Given the description of an element on the screen output the (x, y) to click on. 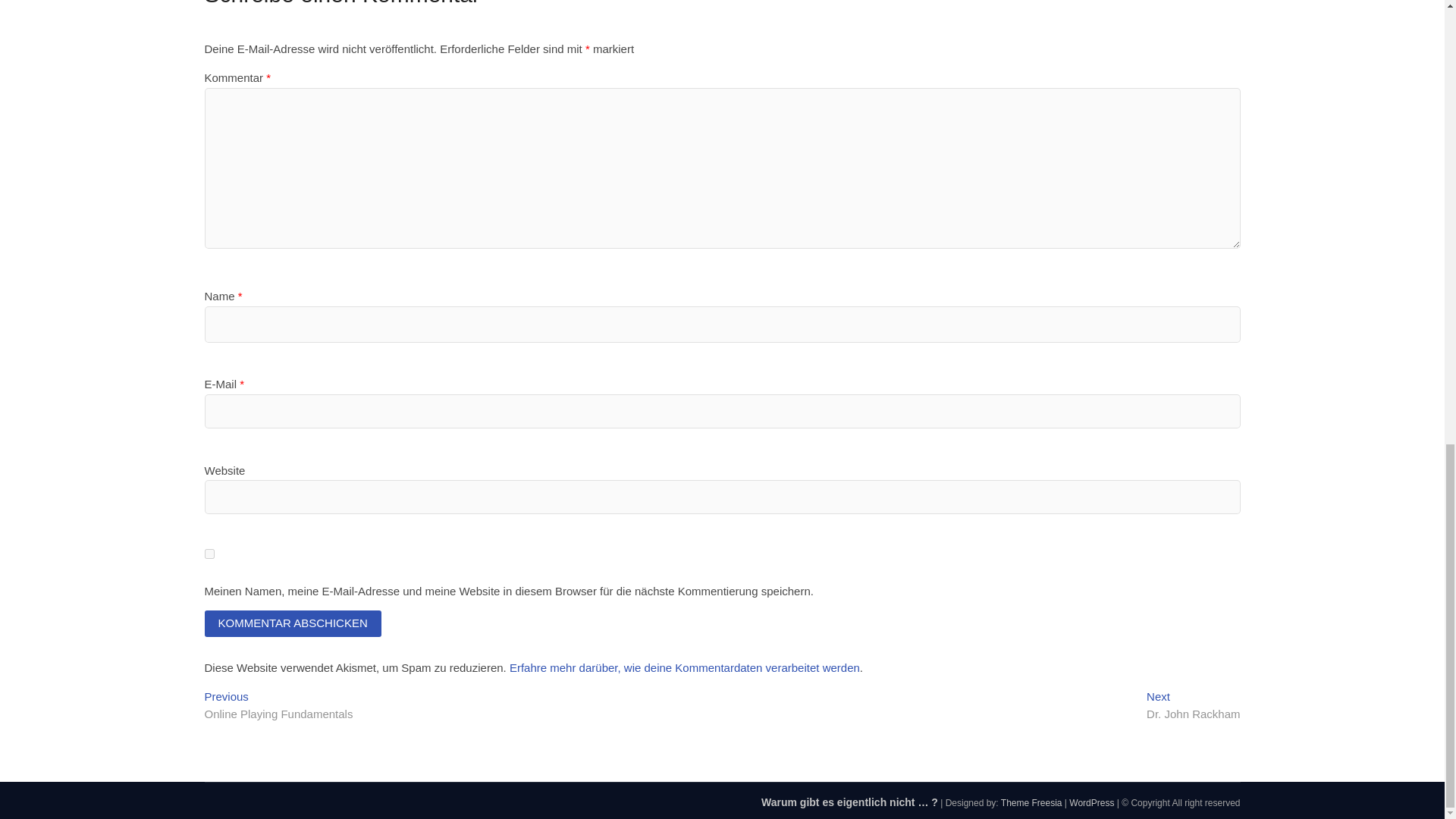
WordPress (1193, 706)
Theme Freesia (1090, 802)
Kommentar abschicken (1031, 802)
WordPress (293, 623)
yes (1090, 802)
Kommentar abschicken (209, 553)
Theme Freesia (293, 623)
